Given the description of an element on the screen output the (x, y) to click on. 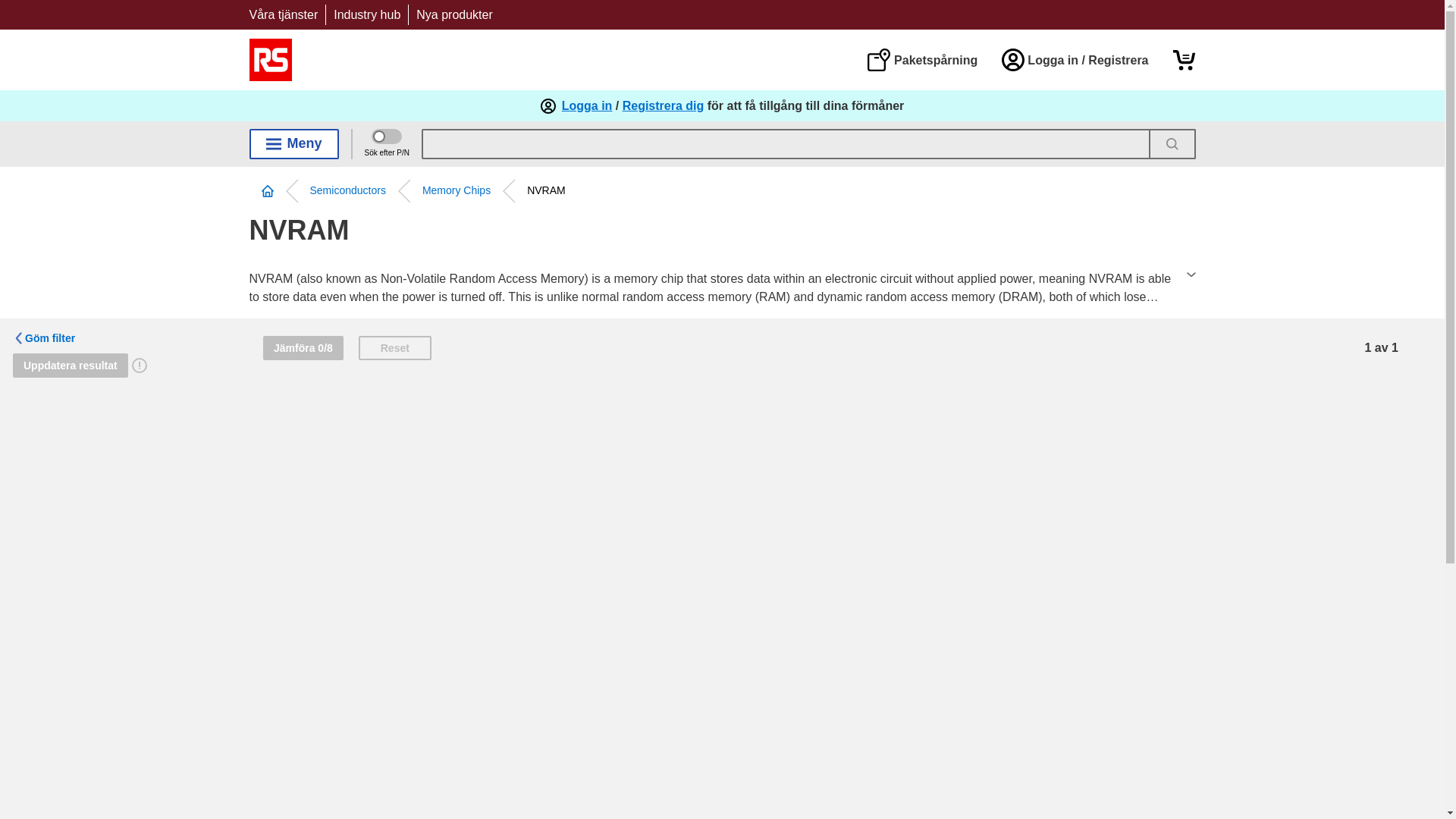
Meny (292, 143)
Industry hub (366, 14)
Nya produkter (454, 14)
Logga in (587, 105)
Registrera dig (663, 105)
